Given the description of an element on the screen output the (x, y) to click on. 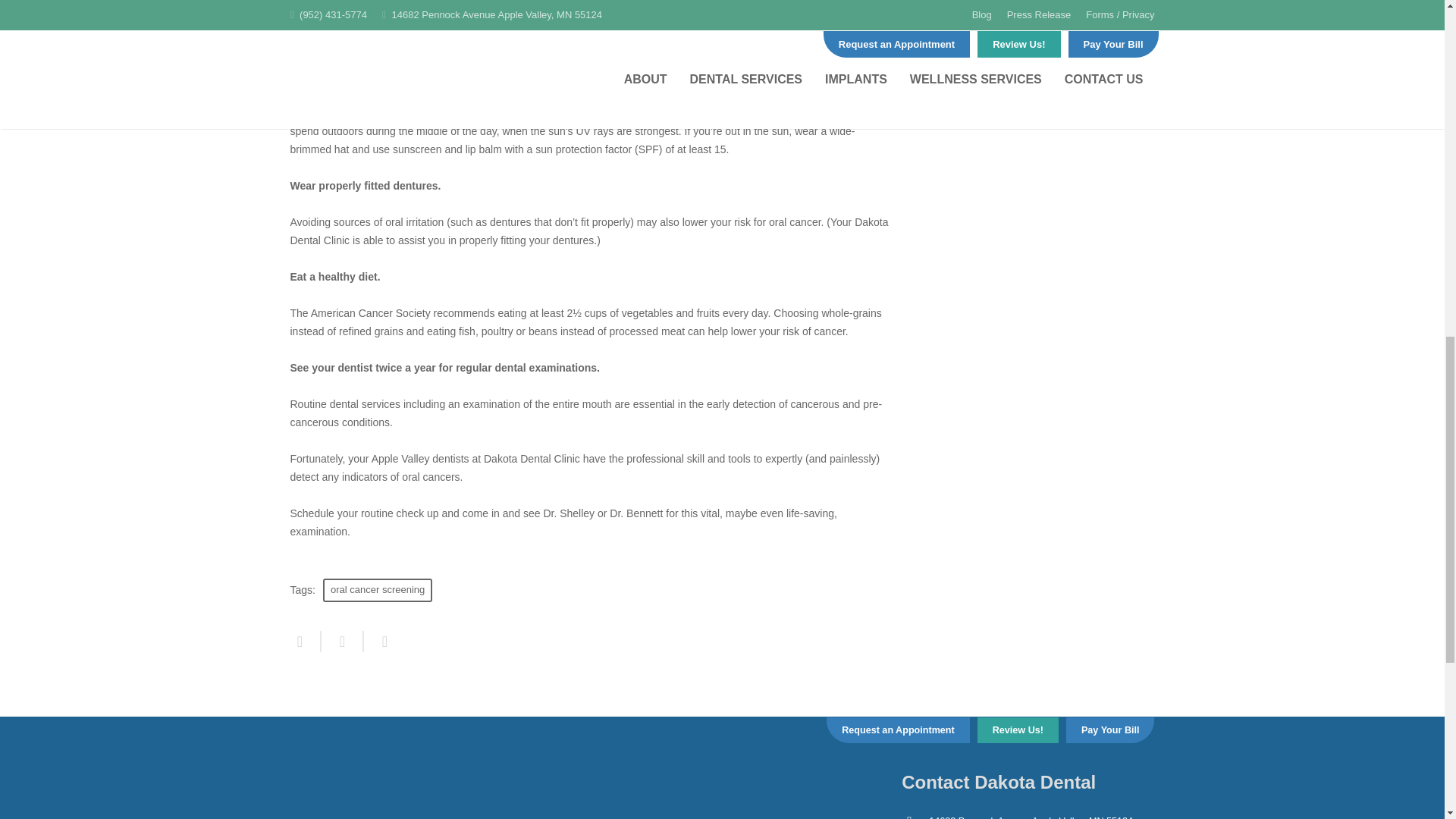
Share this (304, 640)
Tweet this (342, 640)
Back to top (1413, 22)
Pin this (379, 640)
